Given the description of an element on the screen output the (x, y) to click on. 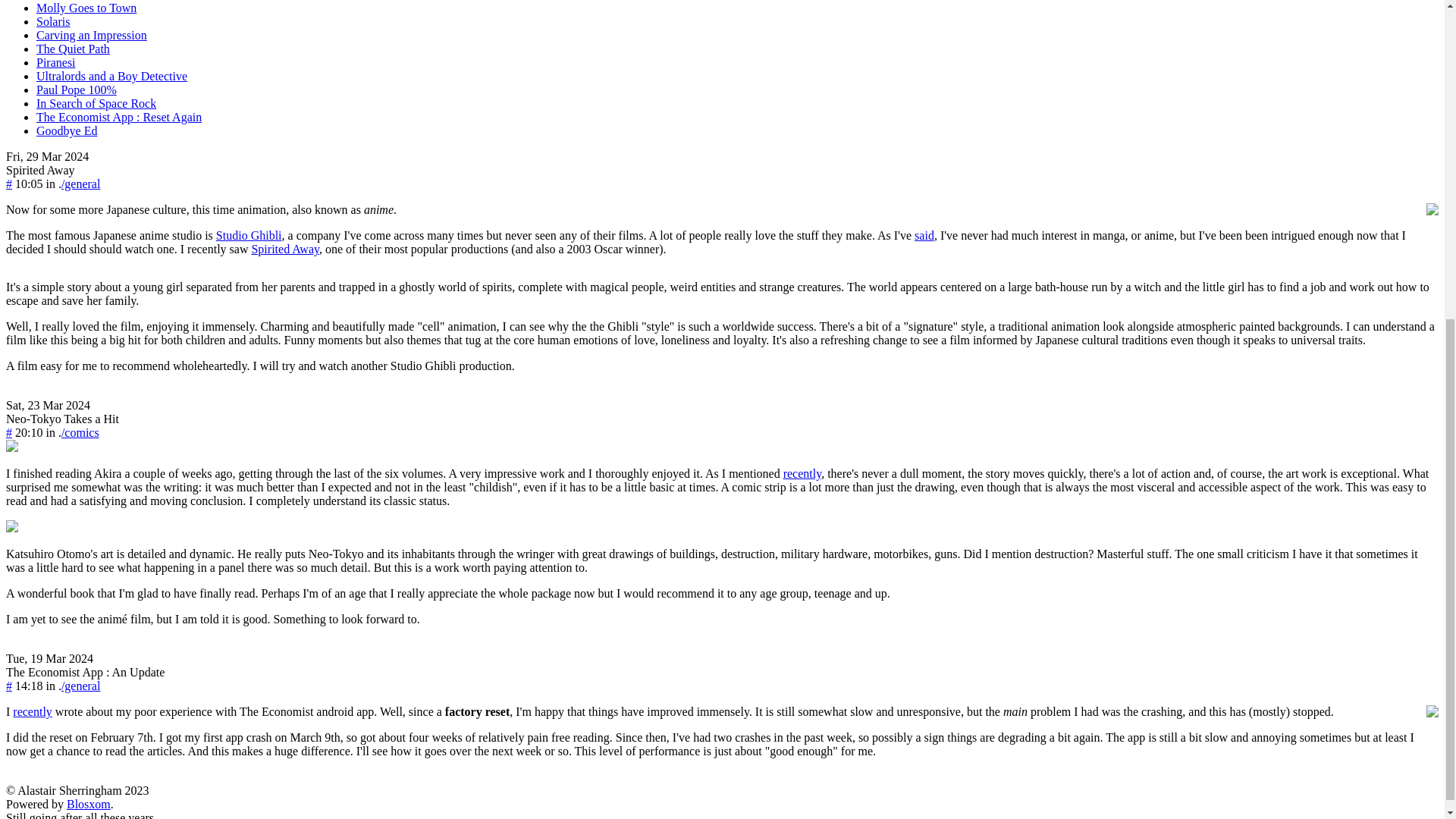
Goodbye Ed (66, 130)
Solaris (52, 21)
In Search of Space Rock (95, 103)
The Quiet Path (73, 48)
Spirited Away (40, 169)
The Economist App : Reset Again (119, 116)
Carving an Impression (91, 34)
Piranesi (55, 62)
Molly Goes to Town (86, 7)
Studio Ghibli (248, 235)
